Given the description of an element on the screen output the (x, y) to click on. 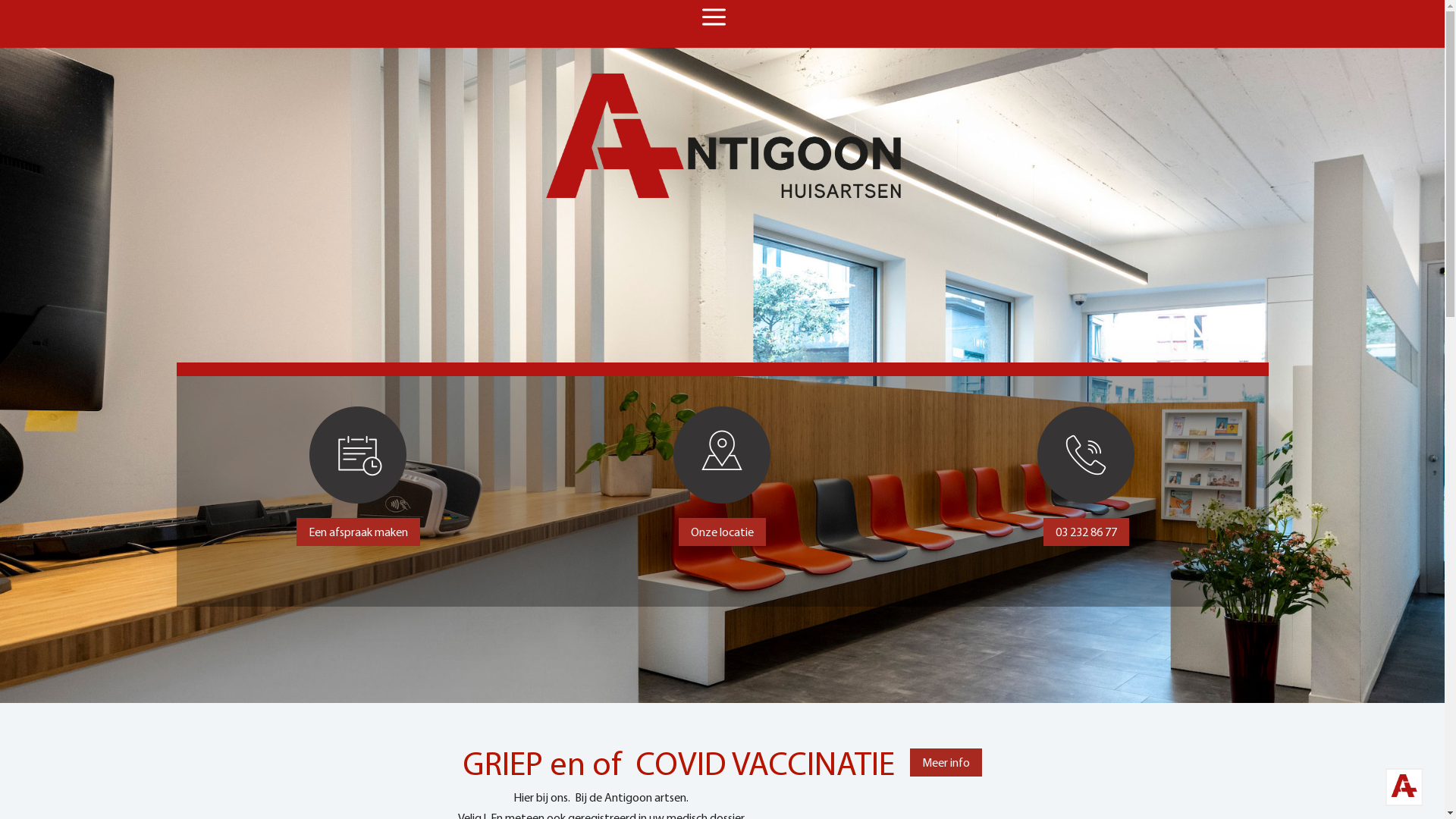
Onze locatie Element type: text (721, 531)
03 232 86 77 Element type: text (1086, 531)
Meer info Element type: text (946, 762)
Een afspraak maken Element type: text (358, 531)
